Given the description of an element on the screen output the (x, y) to click on. 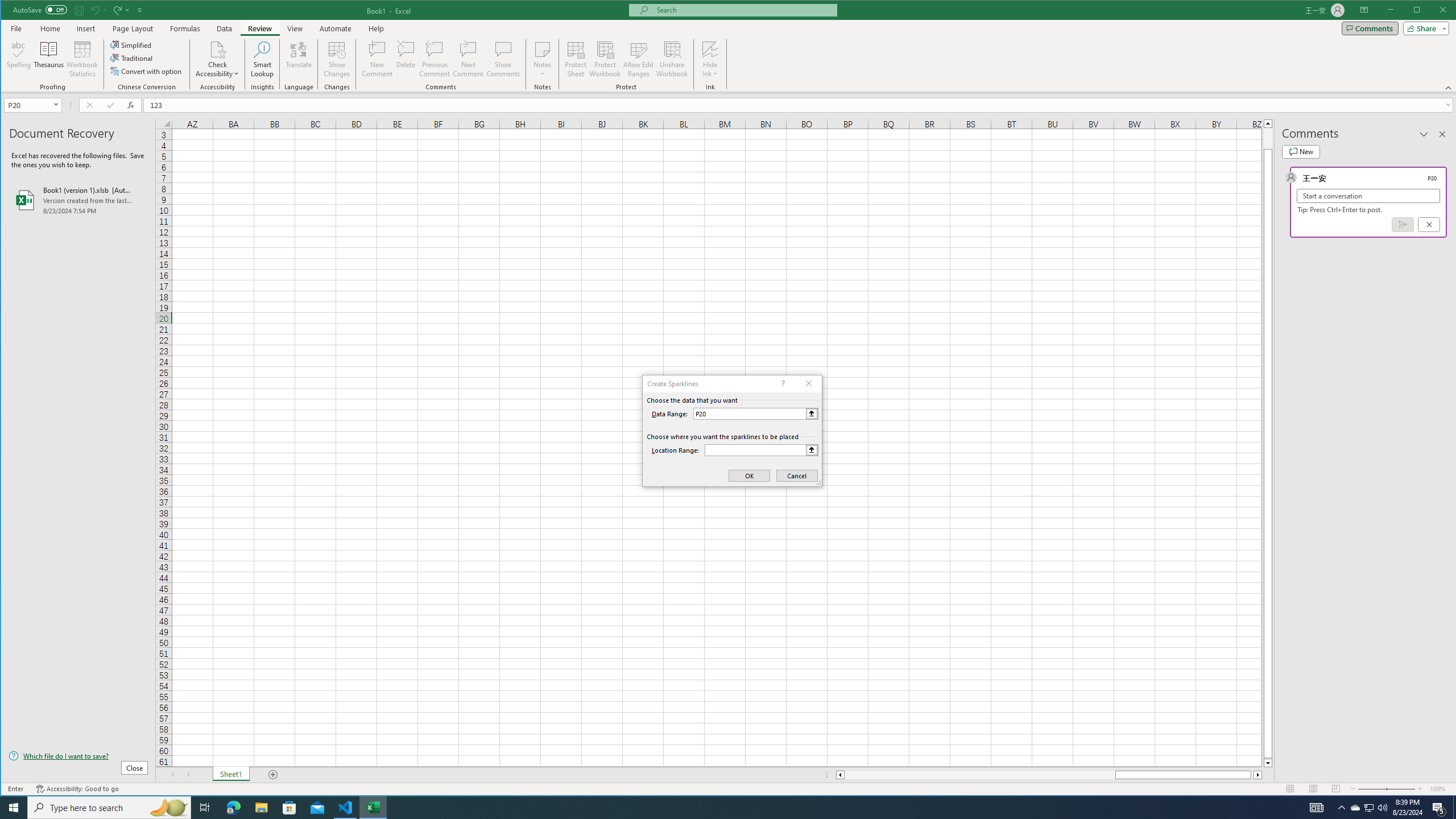
Post comment (Ctrl + Enter) (1402, 224)
Smart Lookup (261, 59)
Protect Sheet... (575, 59)
New comment (1300, 151)
Unshare Workbook (671, 59)
